Given the description of an element on the screen output the (x, y) to click on. 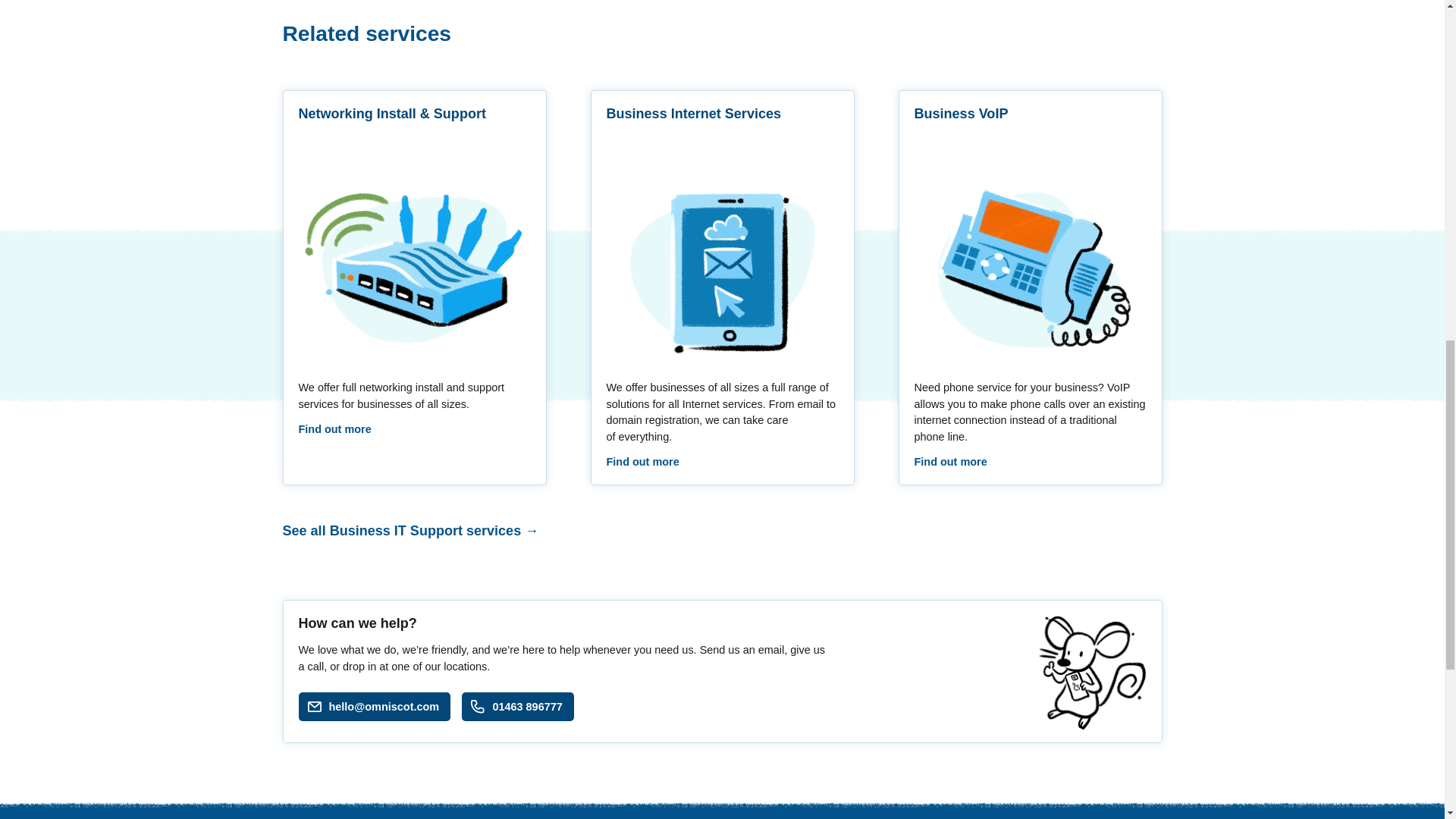
01463 896777 (517, 706)
Find out more (643, 461)
Find out more (334, 428)
Find out more (950, 461)
